Given the description of an element on the screen output the (x, y) to click on. 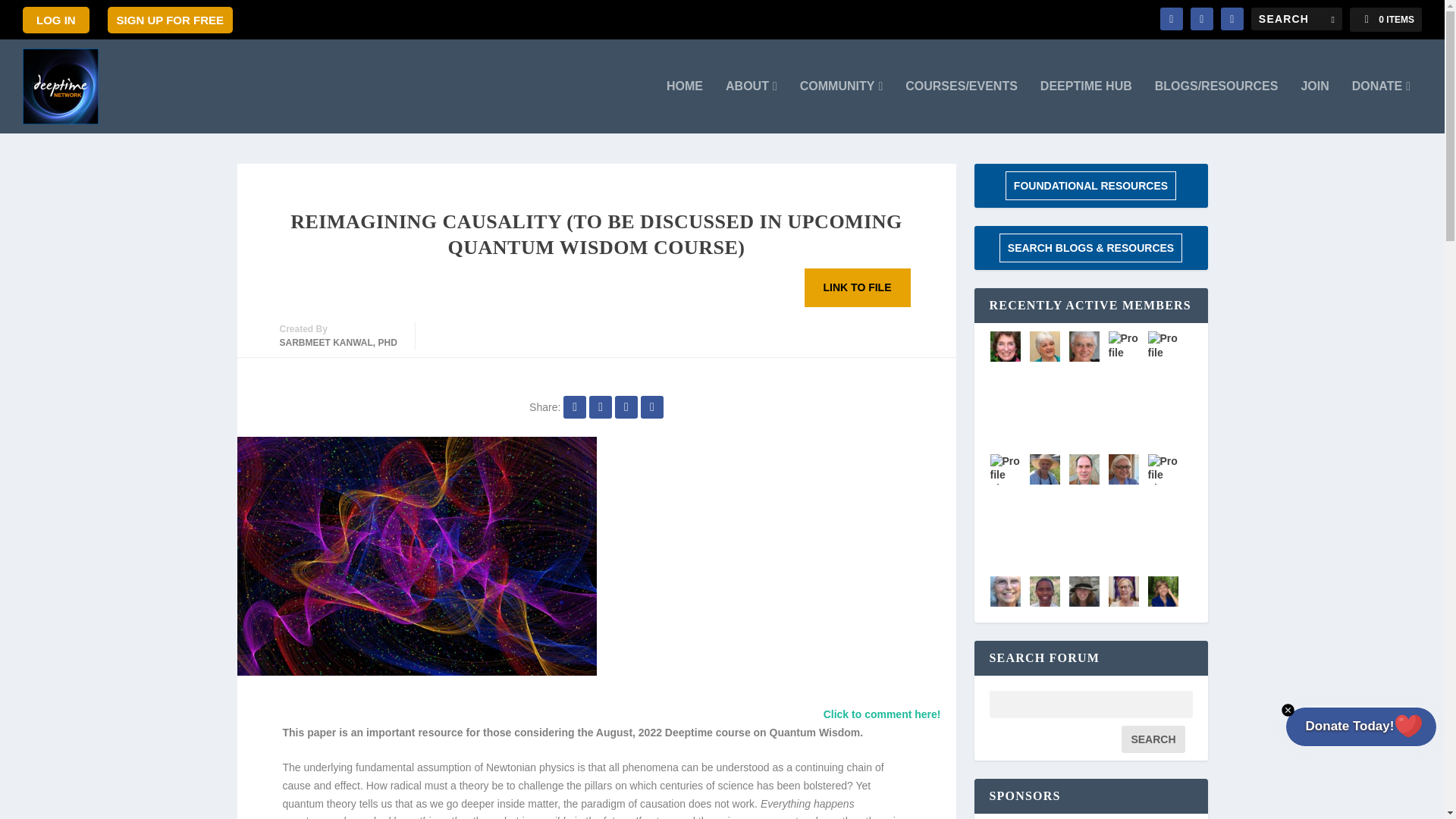
LINK TO FILE (858, 287)
DONATE (1381, 106)
Search (1153, 738)
COMMUNITY (841, 106)
ABOUT (751, 106)
0 Items in Cart (1385, 19)
LOG IN (55, 18)
Search for: (1296, 18)
DEEPTIME HUB (1086, 106)
Donate Today! (1350, 726)
